Given the description of an element on the screen output the (x, y) to click on. 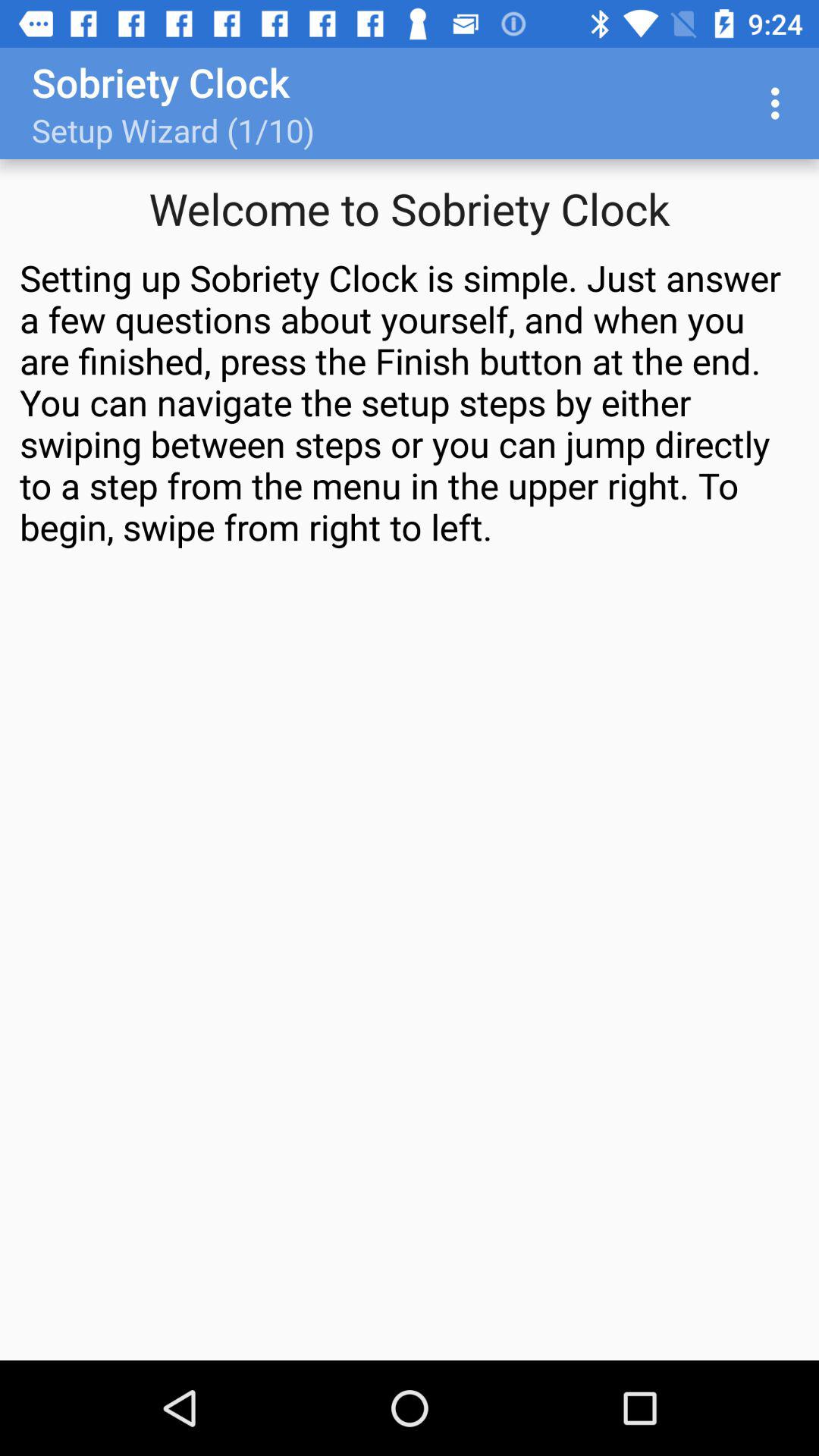
launch the icon at the top right corner (779, 103)
